Given the description of an element on the screen output the (x, y) to click on. 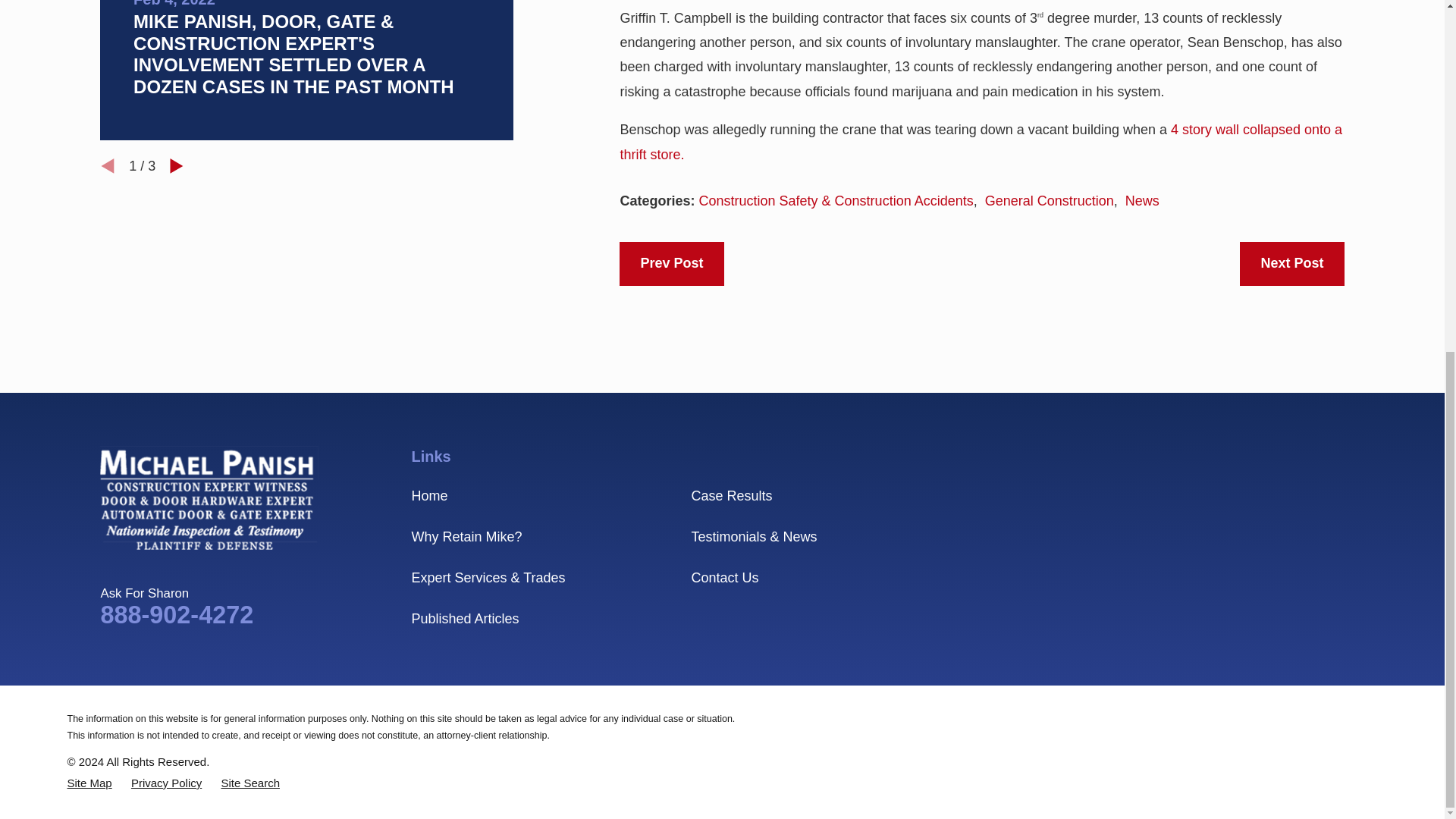
Home (209, 497)
View next item (176, 165)
View previous item (107, 165)
